Given the description of an element on the screen output the (x, y) to click on. 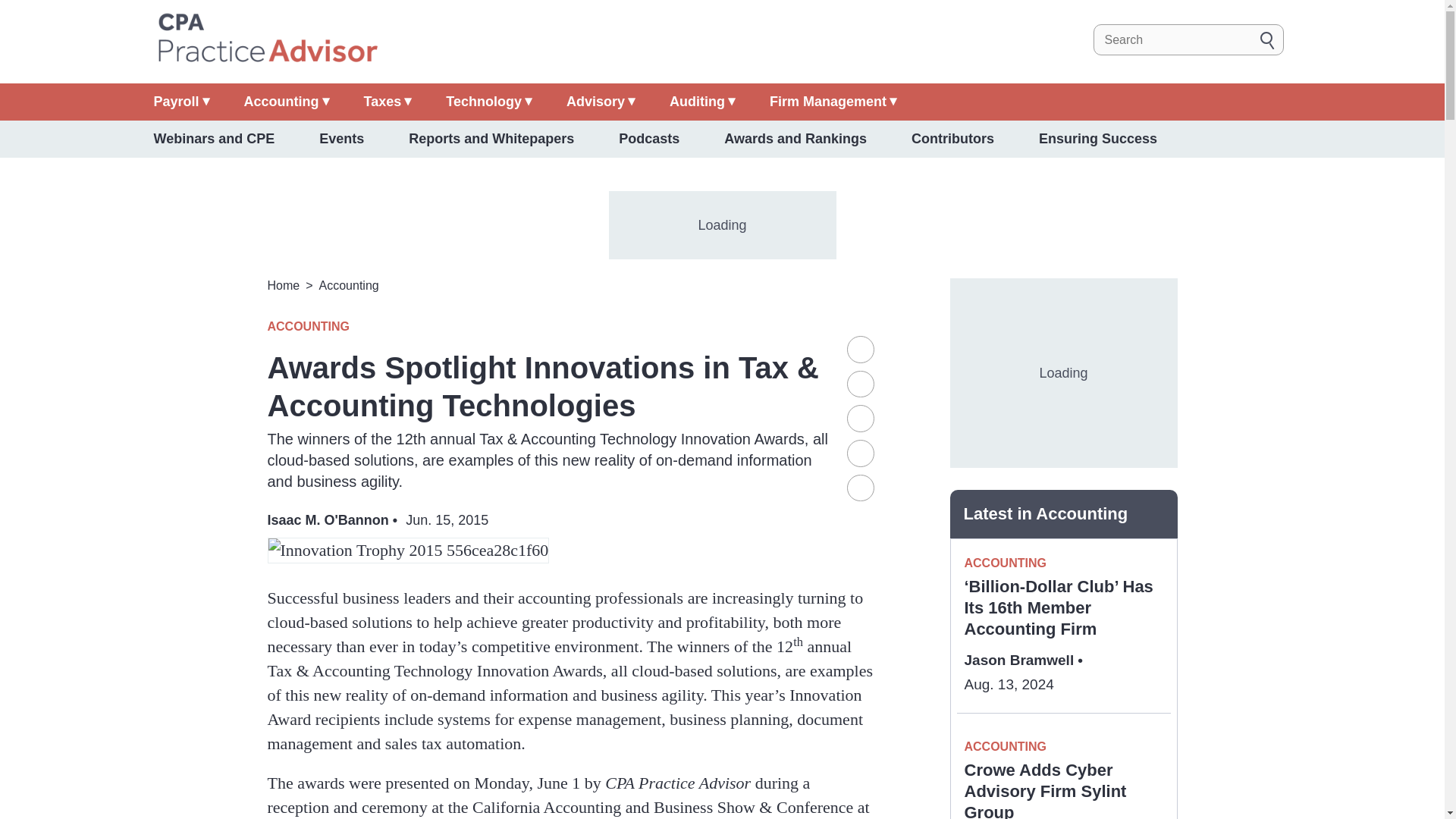
Accounting (287, 101)
Payroll (180, 101)
Technology (488, 101)
Home (266, 39)
Taxes (388, 101)
Auditing (702, 101)
Advisory (600, 101)
